Given the description of an element on the screen output the (x, y) to click on. 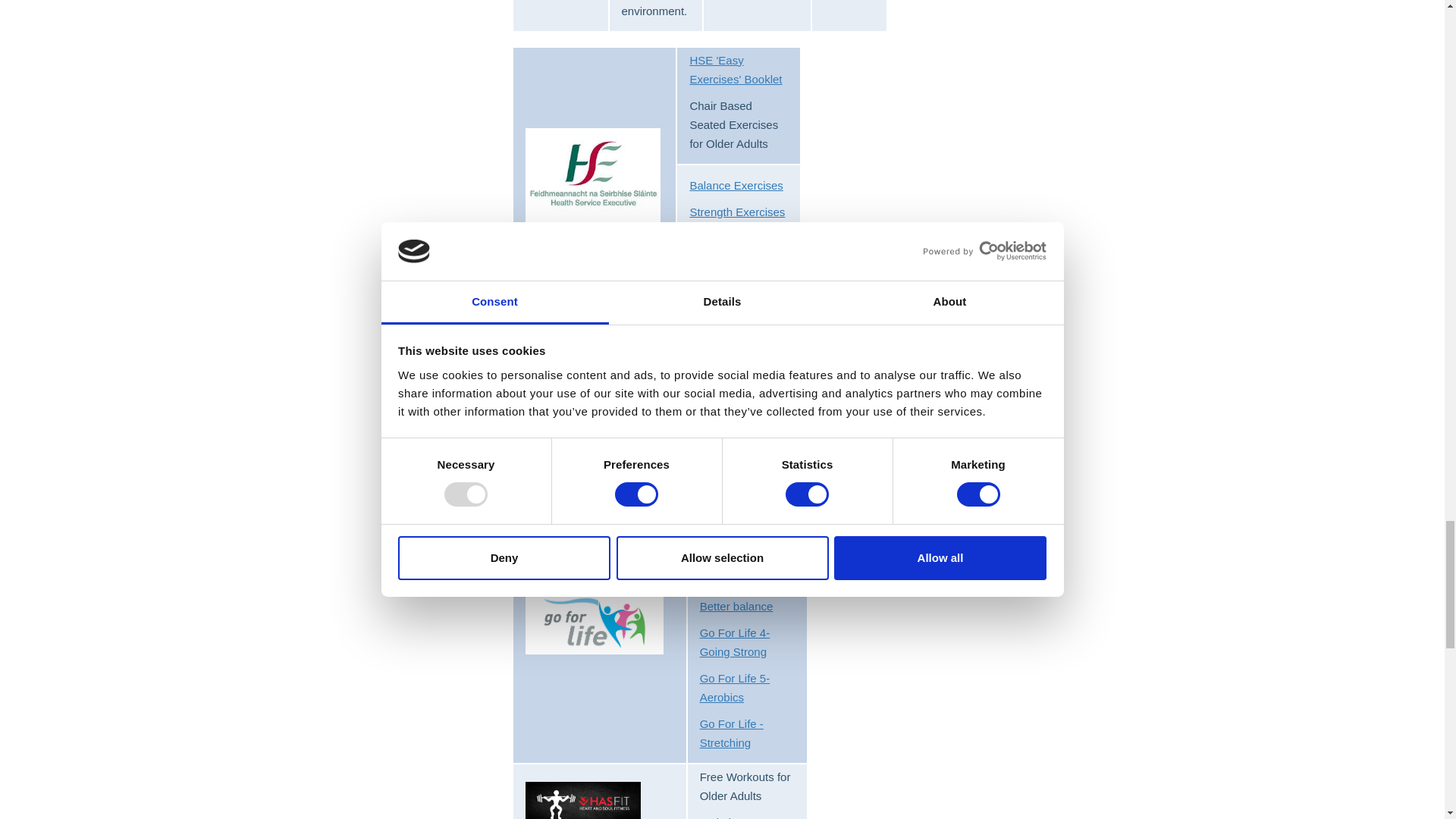
GFL1 (594, 622)
ISCP-logo (585, 385)
download (593, 175)
